Given the description of an element on the screen output the (x, y) to click on. 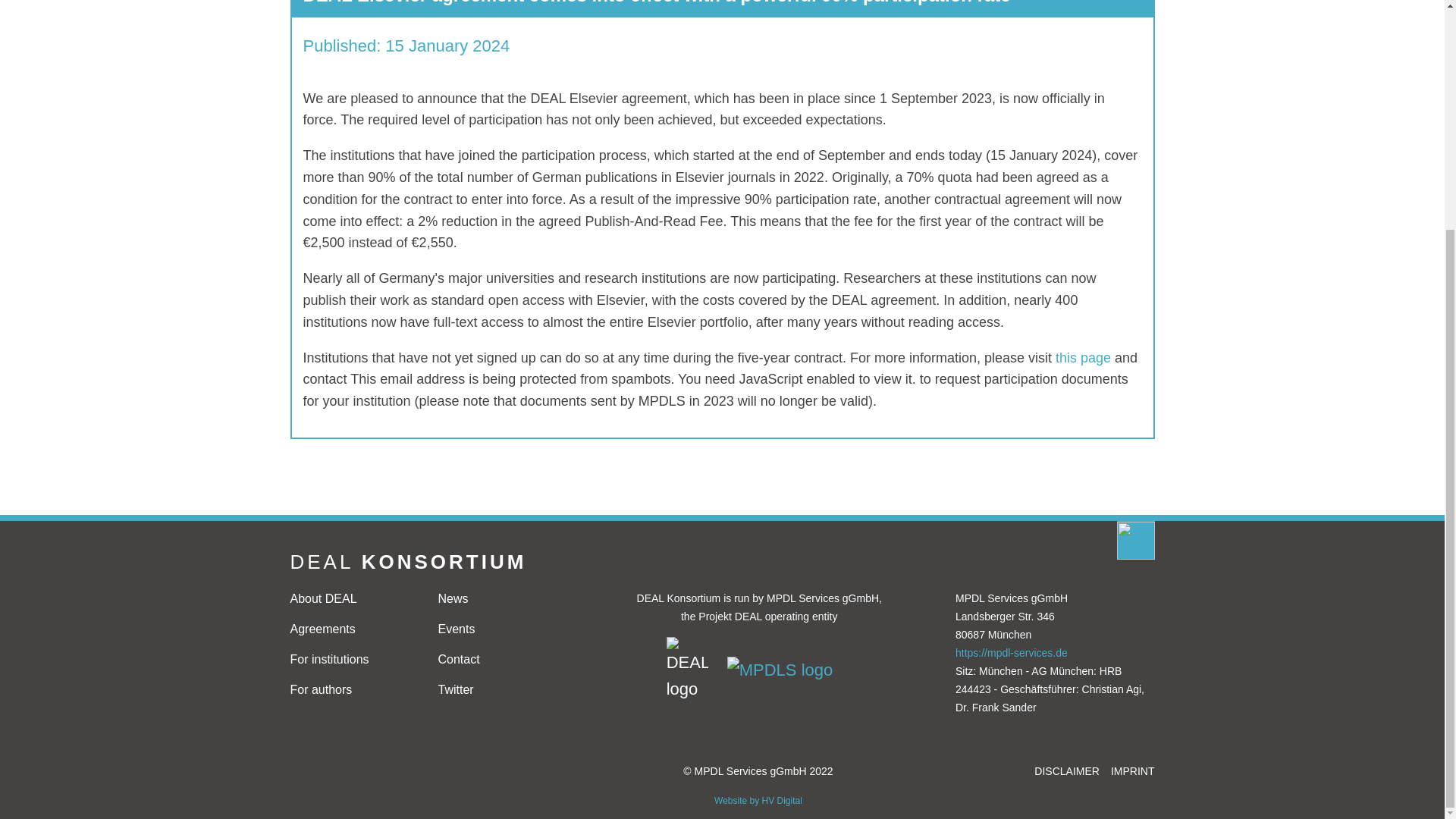
Website by HV Digital (757, 800)
Contact (500, 659)
this page (1082, 357)
Twitter (500, 689)
About DEAL (351, 598)
Events (500, 629)
For institutions (351, 659)
News (500, 598)
For authors (351, 689)
IMPRINT (1132, 770)
